Given the description of an element on the screen output the (x, y) to click on. 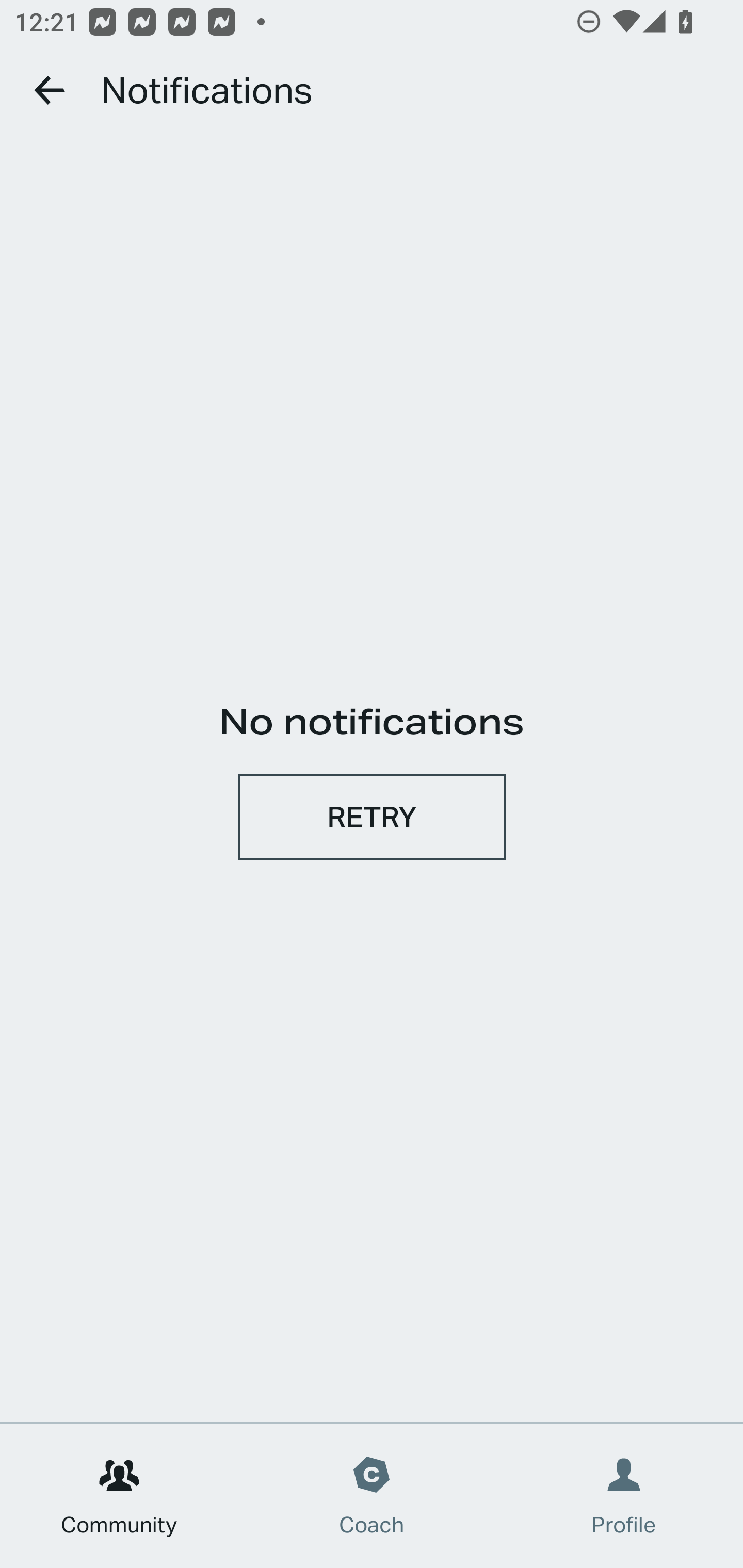
Go back (50, 90)
RETRY (371, 816)
Coach (371, 1495)
Profile (624, 1495)
